Given the description of an element on the screen output the (x, y) to click on. 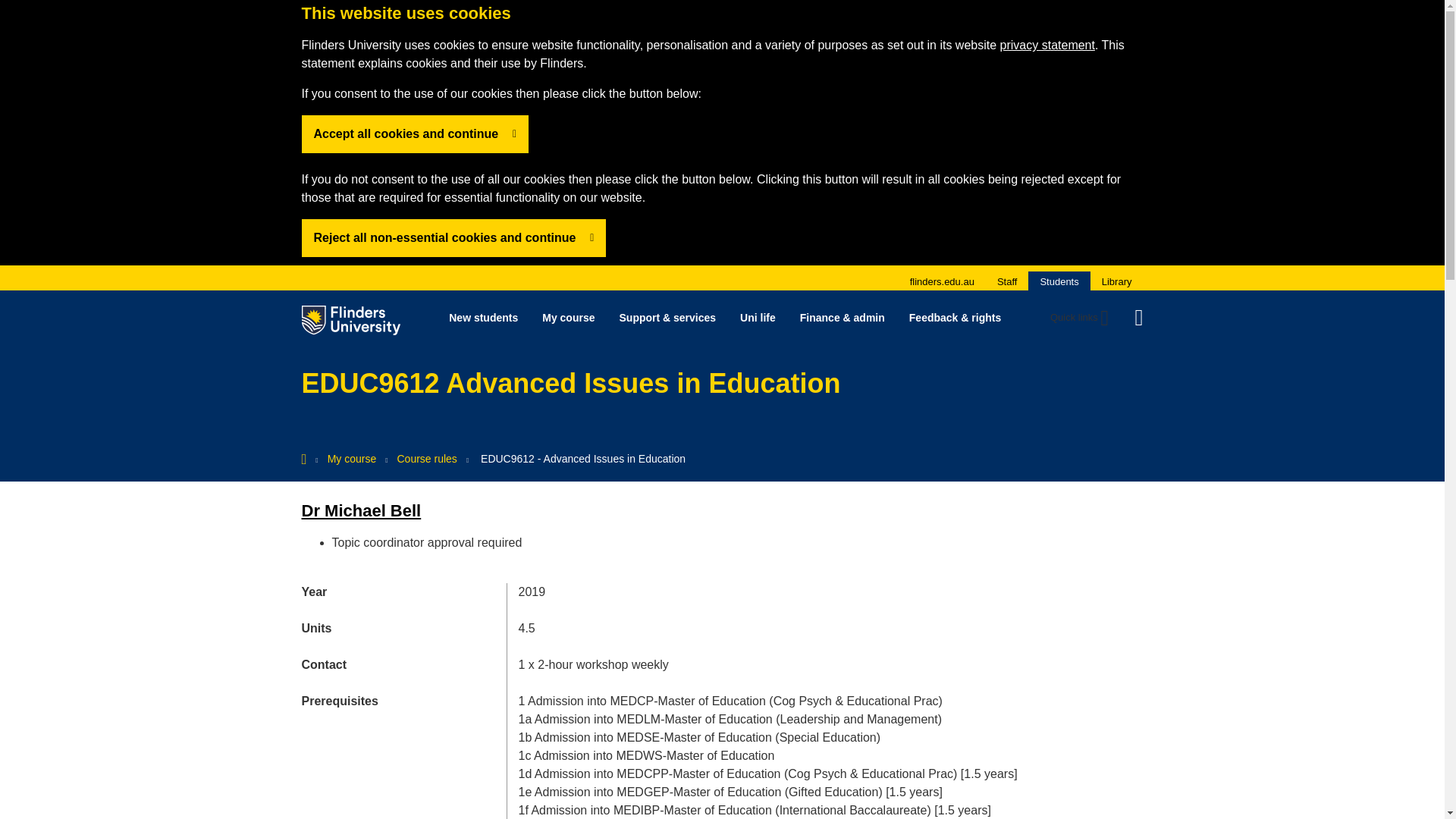
Library (1117, 281)
Accept and continue (415, 134)
flinders.edu.au (942, 281)
Accept and continue (454, 238)
New students (482, 317)
Staff (1007, 281)
Students (1058, 281)
My course (568, 317)
